Given the description of an element on the screen output the (x, y) to click on. 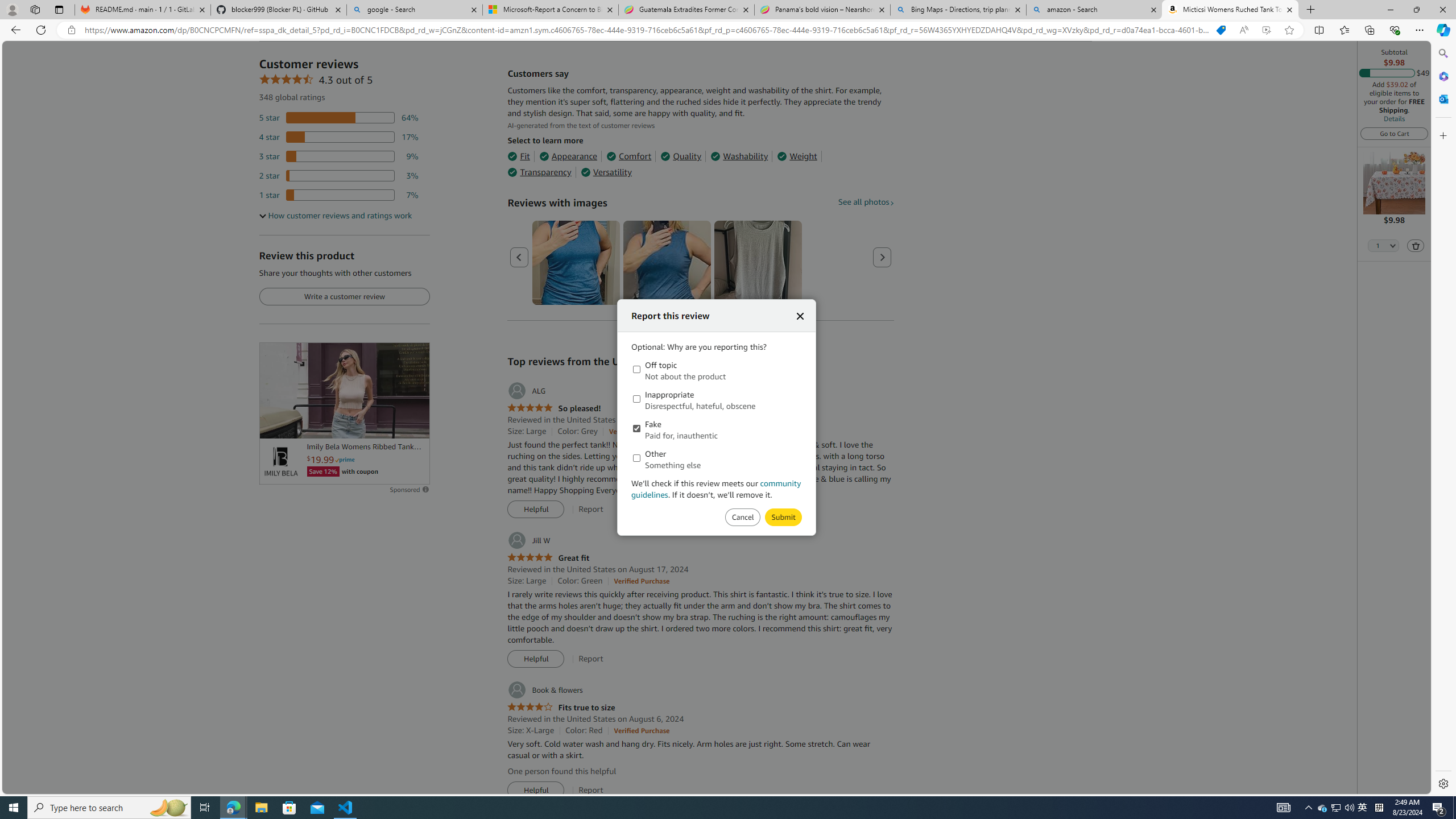
Enhance video (1266, 29)
Prime (344, 459)
Next page (882, 256)
How customer reviews and ratings work (335, 215)
